Given the description of an element on the screen output the (x, y) to click on. 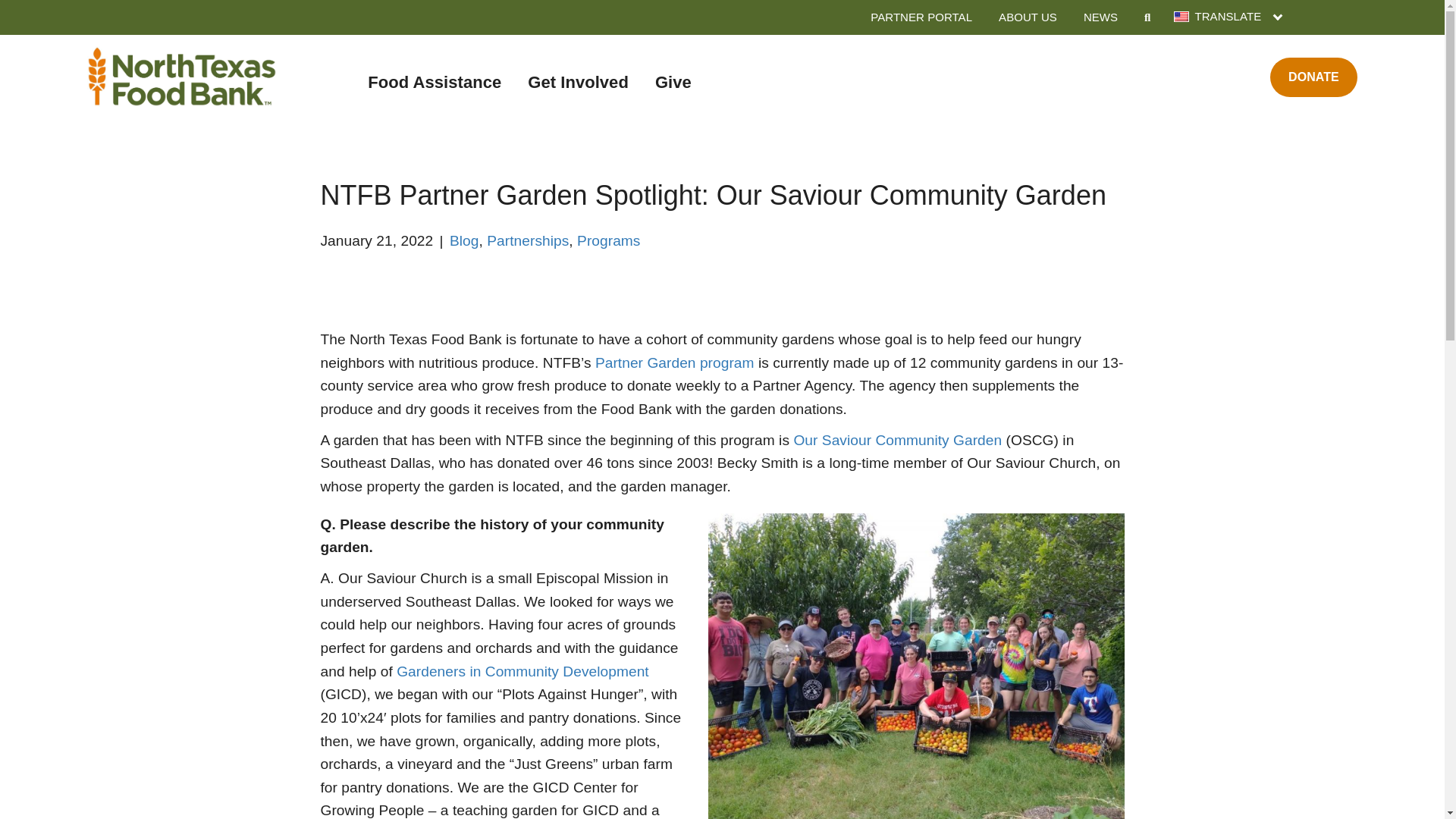
ABOUT US (1027, 17)
NEWS (1100, 17)
English (1181, 16)
NTFB Logo (181, 76)
PARTNER PORTAL (921, 17)
